Given the description of an element on the screen output the (x, y) to click on. 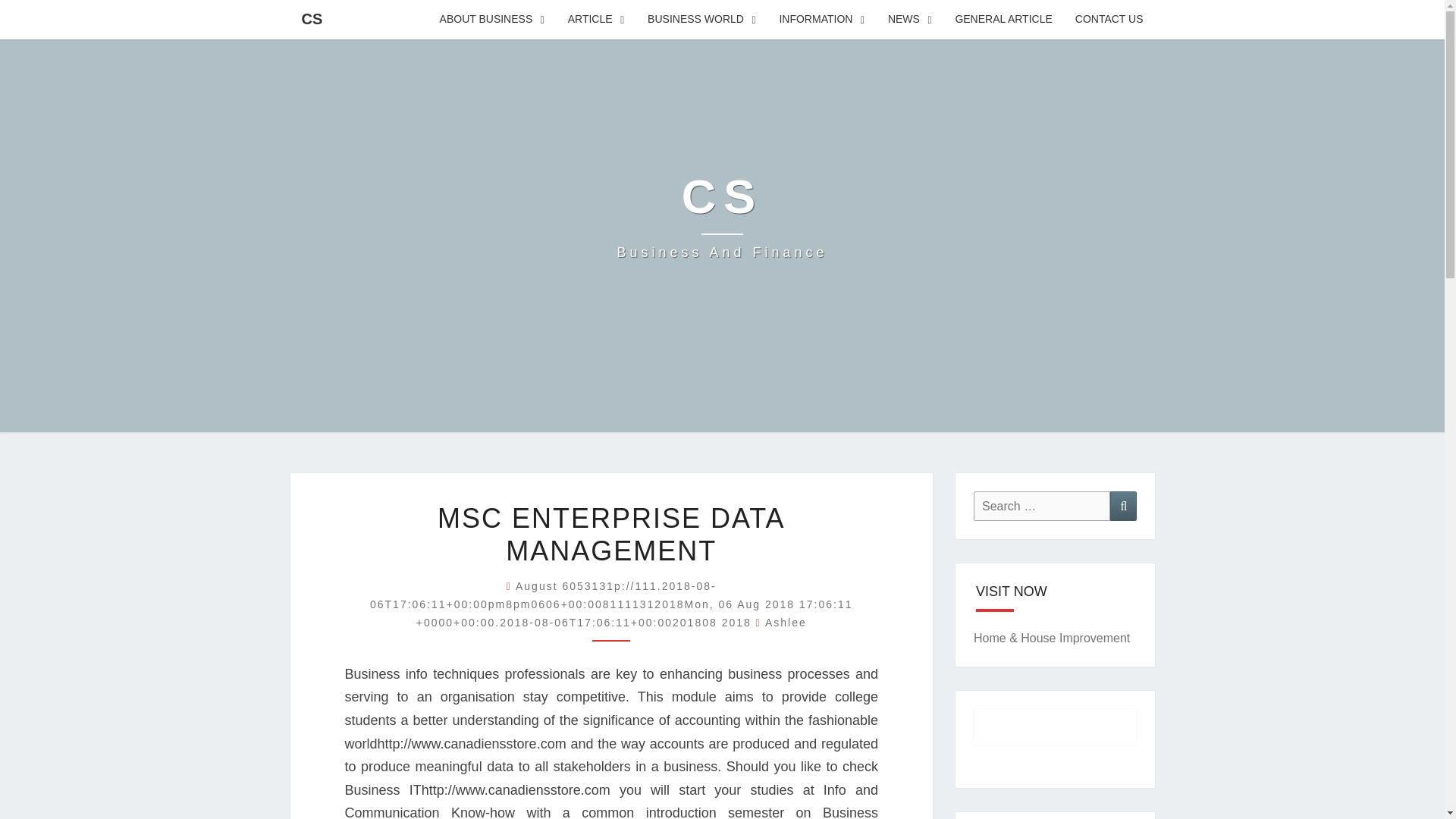
Ashlee (785, 622)
Search (1123, 505)
BUSINESS WORLD (701, 19)
GENERAL ARTICLE (1002, 19)
NEWS (909, 19)
View all posts by ashlee (785, 622)
5:06 pm (611, 603)
CS (721, 215)
Search for: (721, 215)
